Given the description of an element on the screen output the (x, y) to click on. 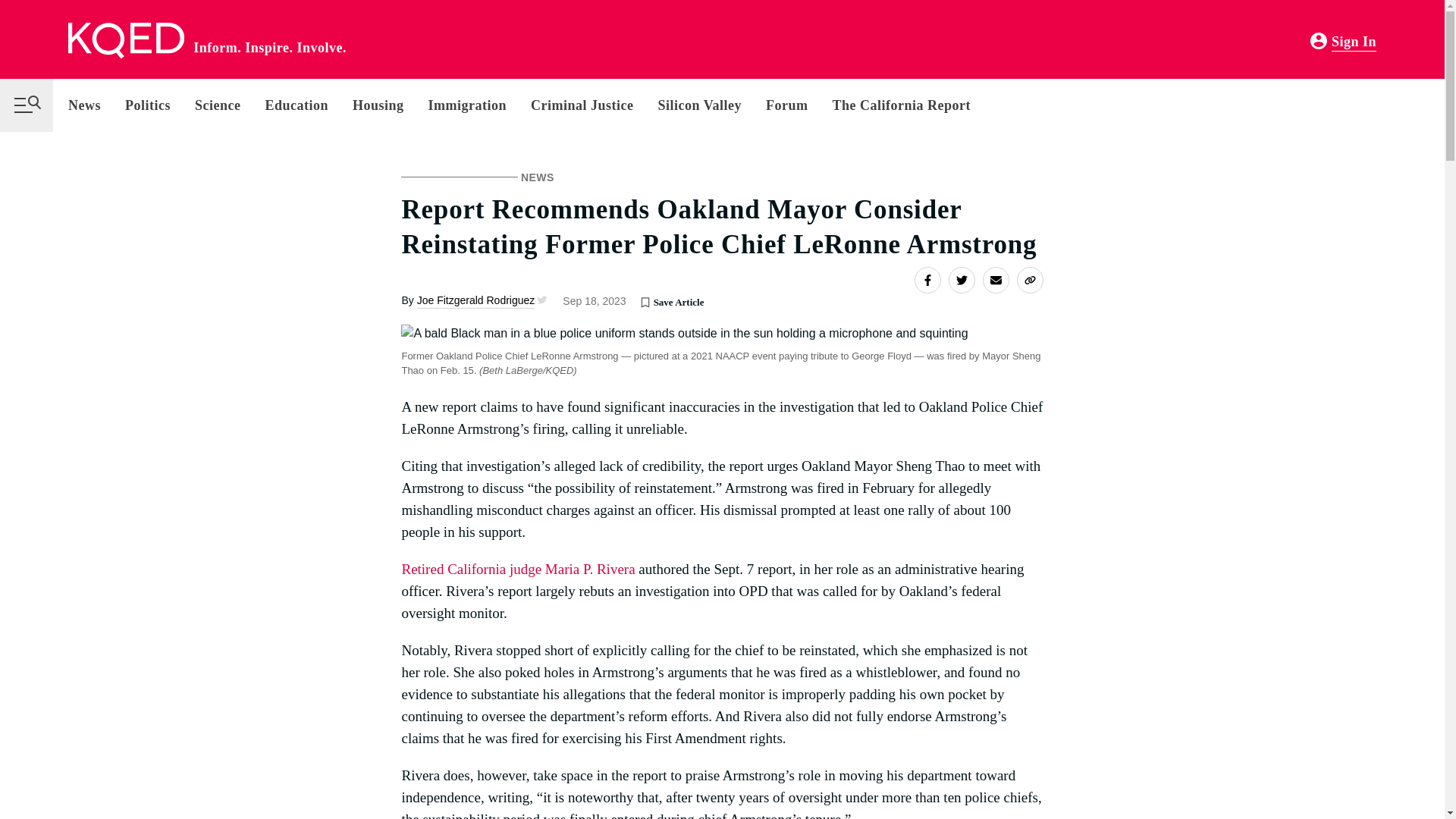
KQED (126, 40)
KQED (126, 40)
Joe Fitzgerald Rodriguez on Twitter (540, 300)
News (90, 104)
Save Article (645, 302)
